Given the description of an element on the screen output the (x, y) to click on. 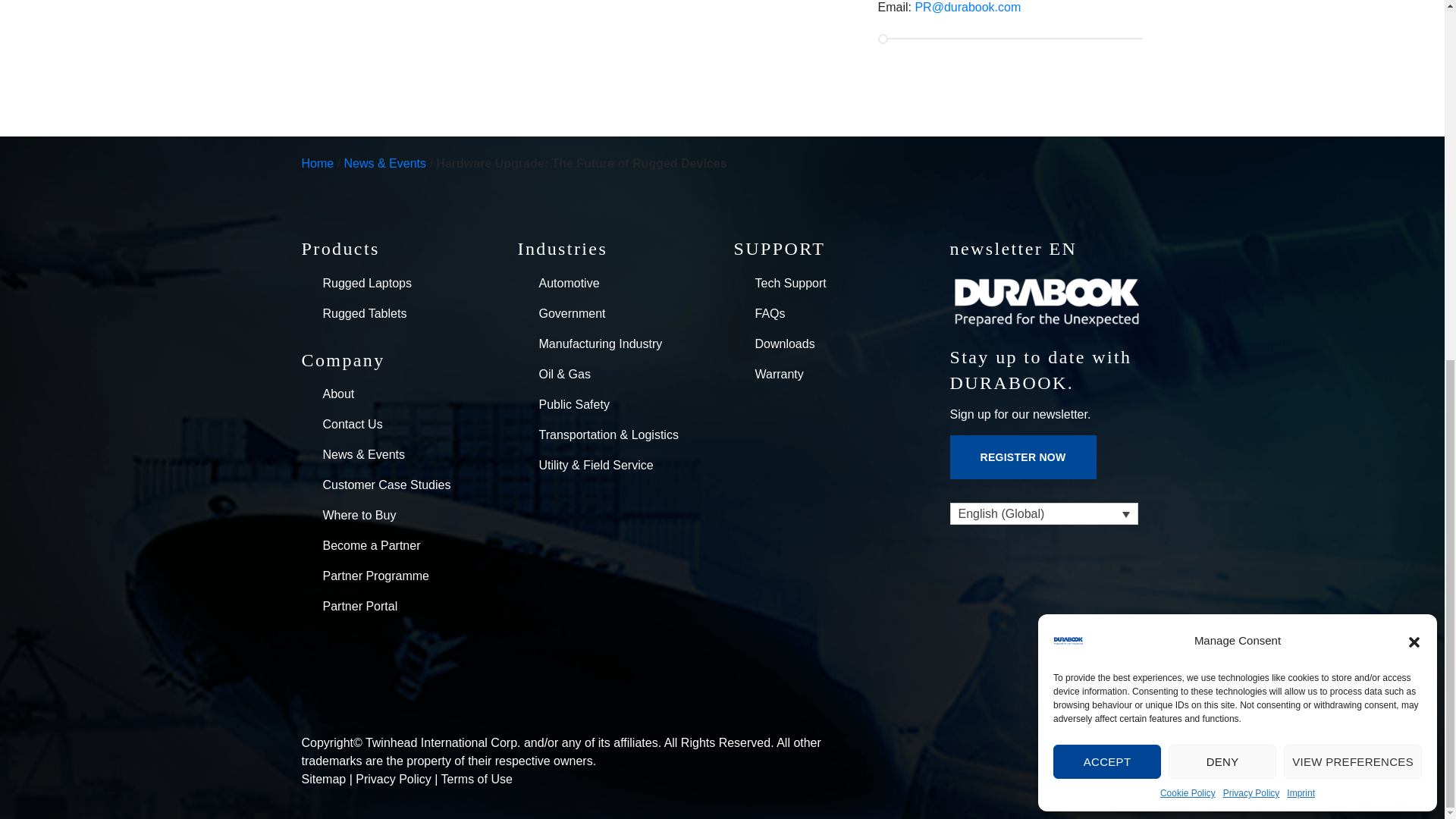
Cookie Policy (1187, 155)
DENY (1222, 123)
Imprint (1300, 155)
Privacy Policy (1251, 155)
VIEW PREFERENCES (1353, 123)
ACCEPT (1106, 123)
